Given the description of an element on the screen output the (x, y) to click on. 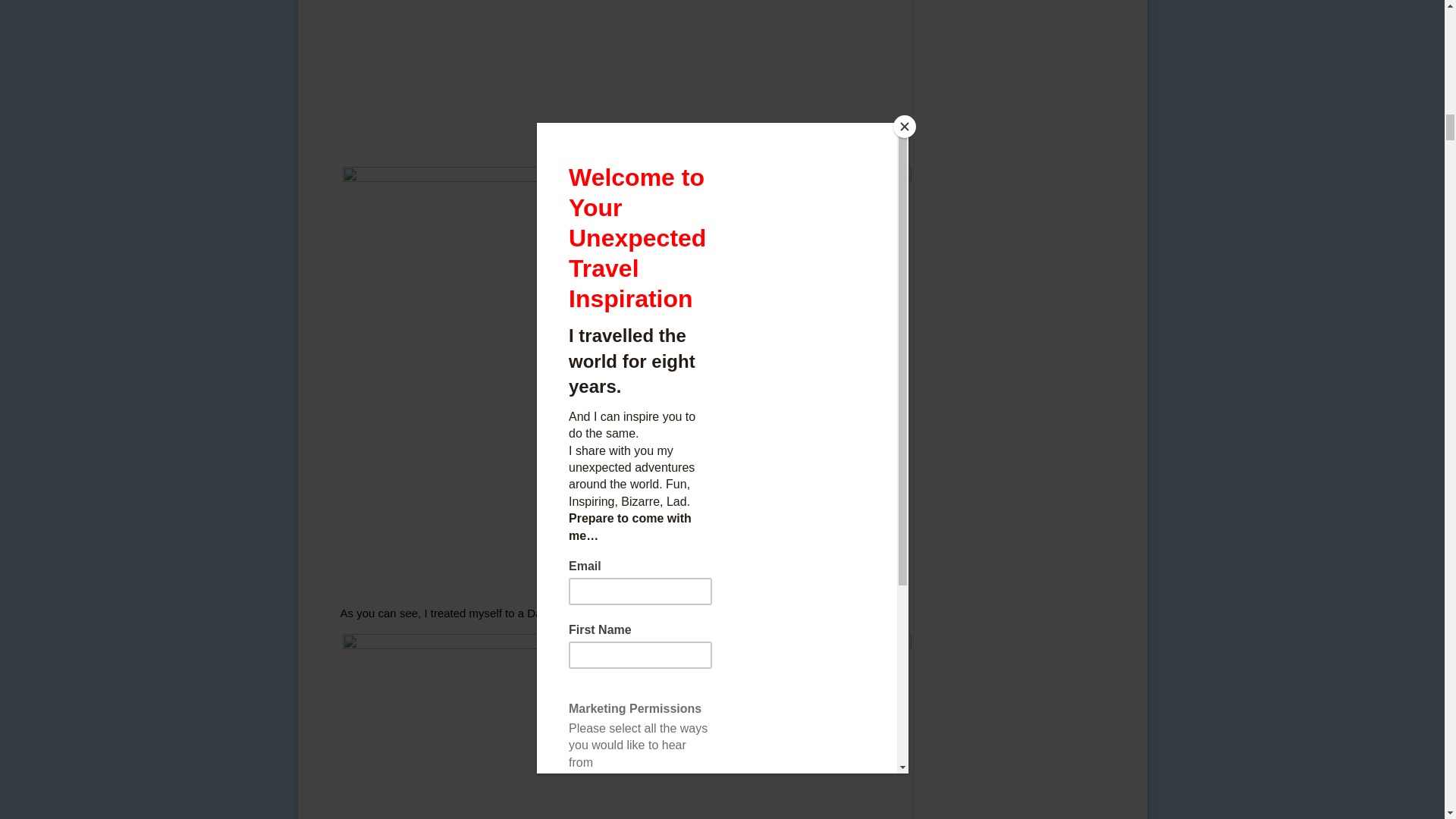
My meal! (626, 726)
